Given the description of an element on the screen output the (x, y) to click on. 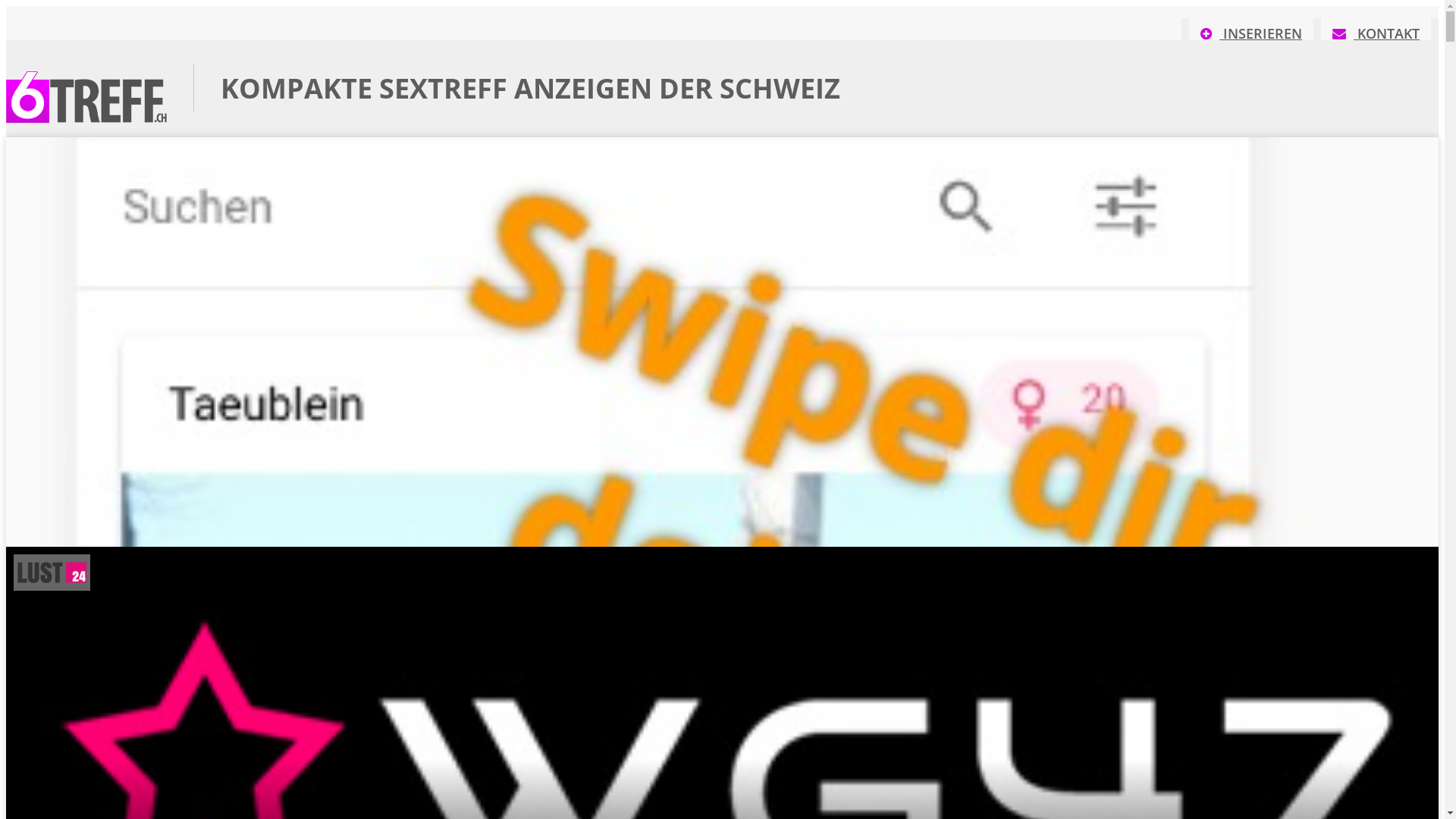
INSERIEREN Element type: text (1251, 38)
6treff.ch Element type: text (86, 96)
KONTAKT Element type: text (1375, 38)
